Given the description of an element on the screen output the (x, y) to click on. 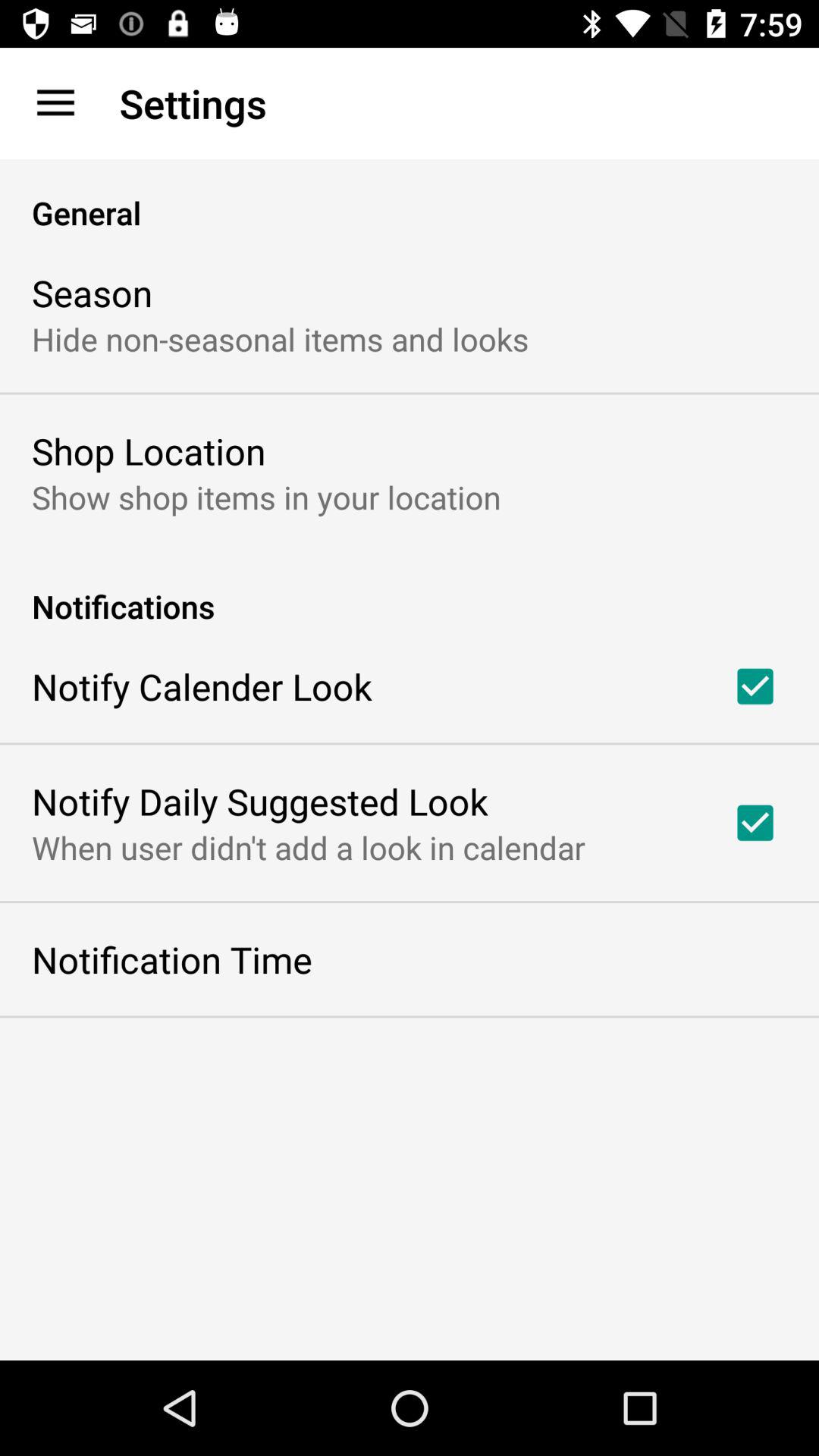
click item above general (55, 103)
